Given the description of an element on the screen output the (x, y) to click on. 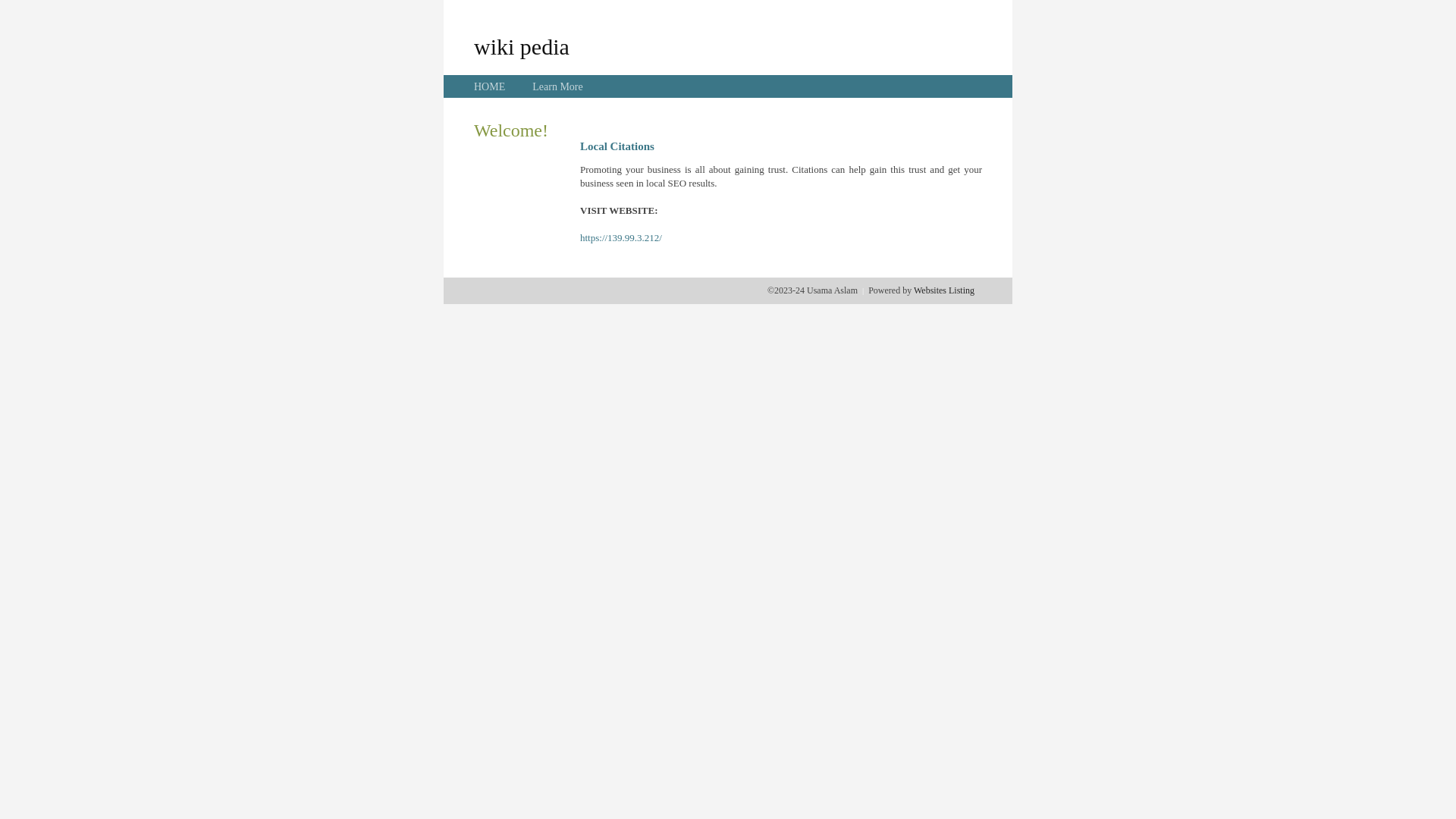
HOME Element type: text (489, 86)
https://139.99.3.212/ Element type: text (621, 237)
Learn More Element type: text (557, 86)
wiki pedia Element type: text (521, 46)
Websites Listing Element type: text (943, 290)
